Given the description of an element on the screen output the (x, y) to click on. 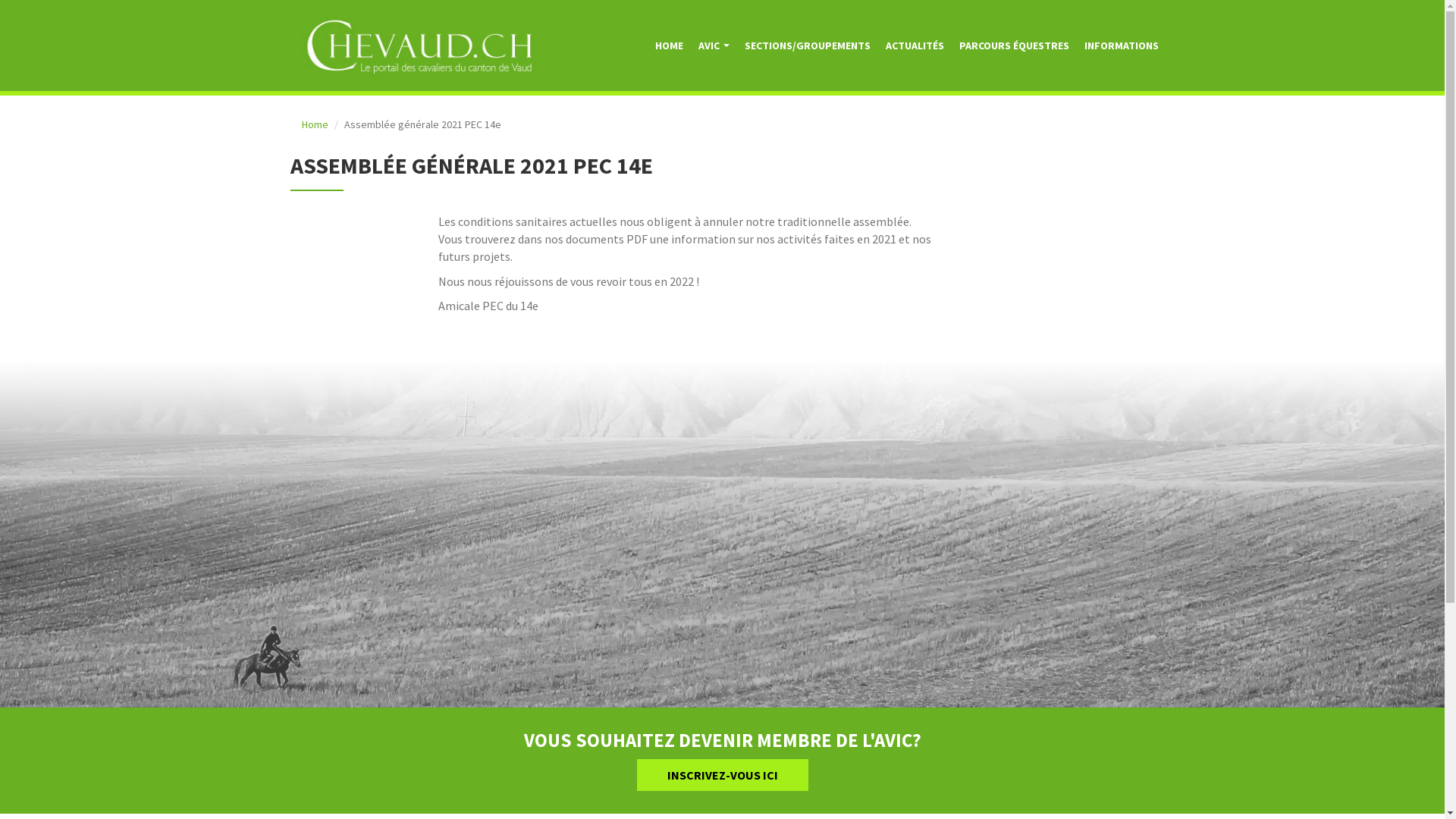
INFORMATIONS Element type: text (1121, 46)
Home Element type: hover (426, 45)
SECTIONS/GROUPEMENTS Element type: text (807, 46)
HOME Element type: text (668, 46)
Home Element type: text (314, 124)
Skip to main content Element type: text (0, 0)
INSCRIVEZ-VOUS ICI Element type: text (722, 775)
